Given the description of an element on the screen output the (x, y) to click on. 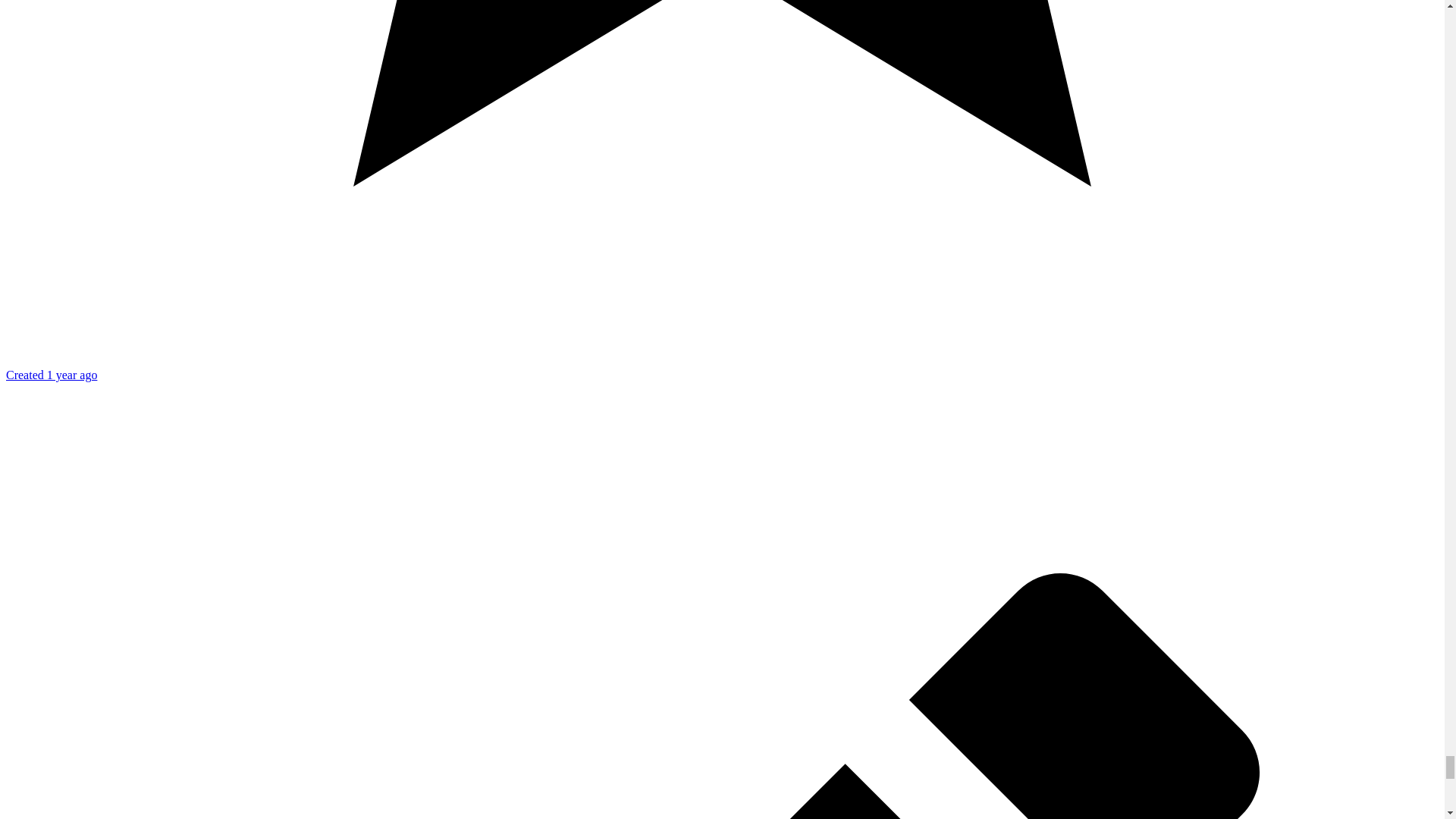
Fri, Mar 17, 2023 4:16 PM (51, 374)
